Given the description of an element on the screen output the (x, y) to click on. 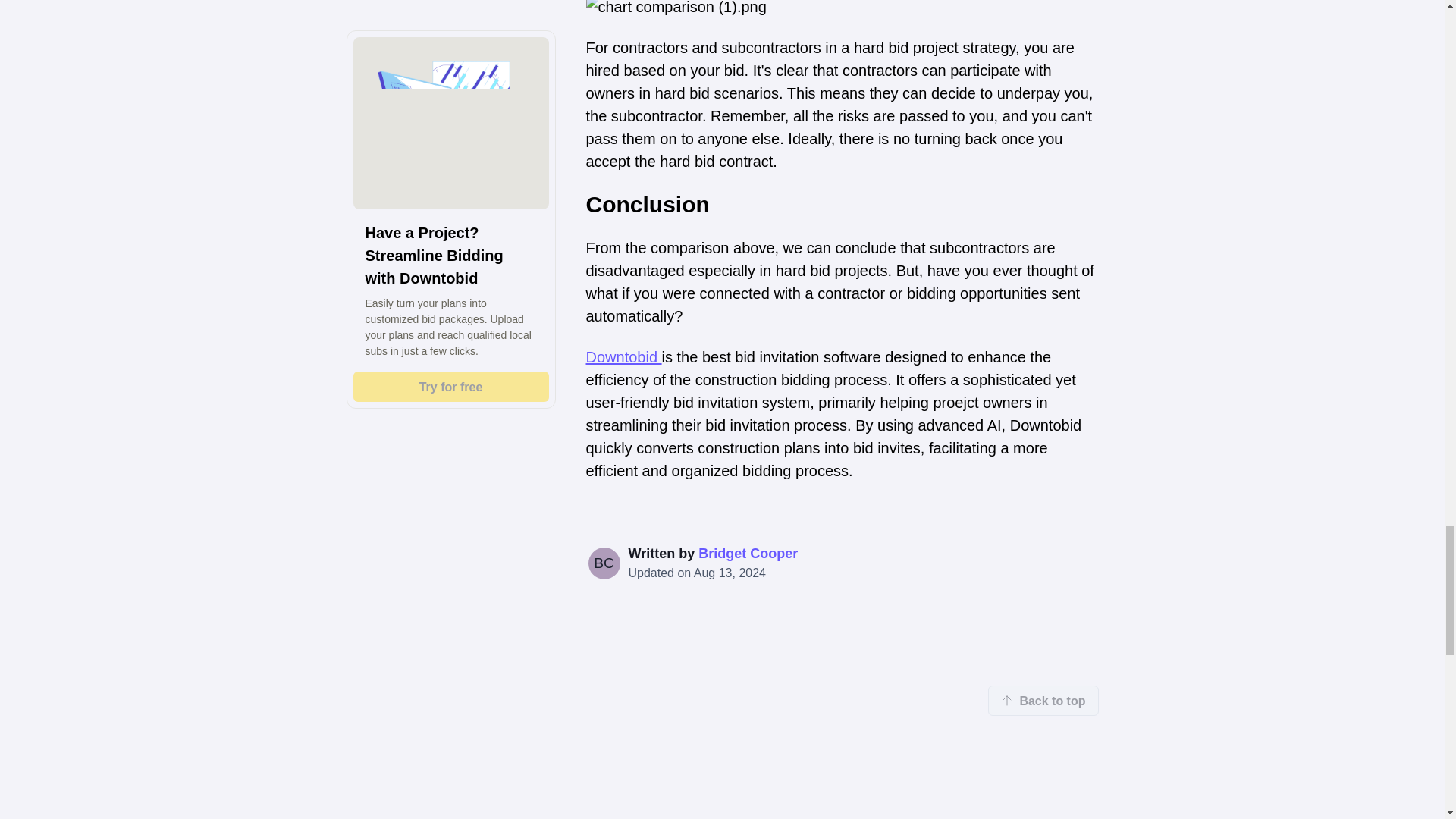
Back to top (1042, 700)
Downtobid (623, 356)
Bridget Cooper (747, 553)
